Given the description of an element on the screen output the (x, y) to click on. 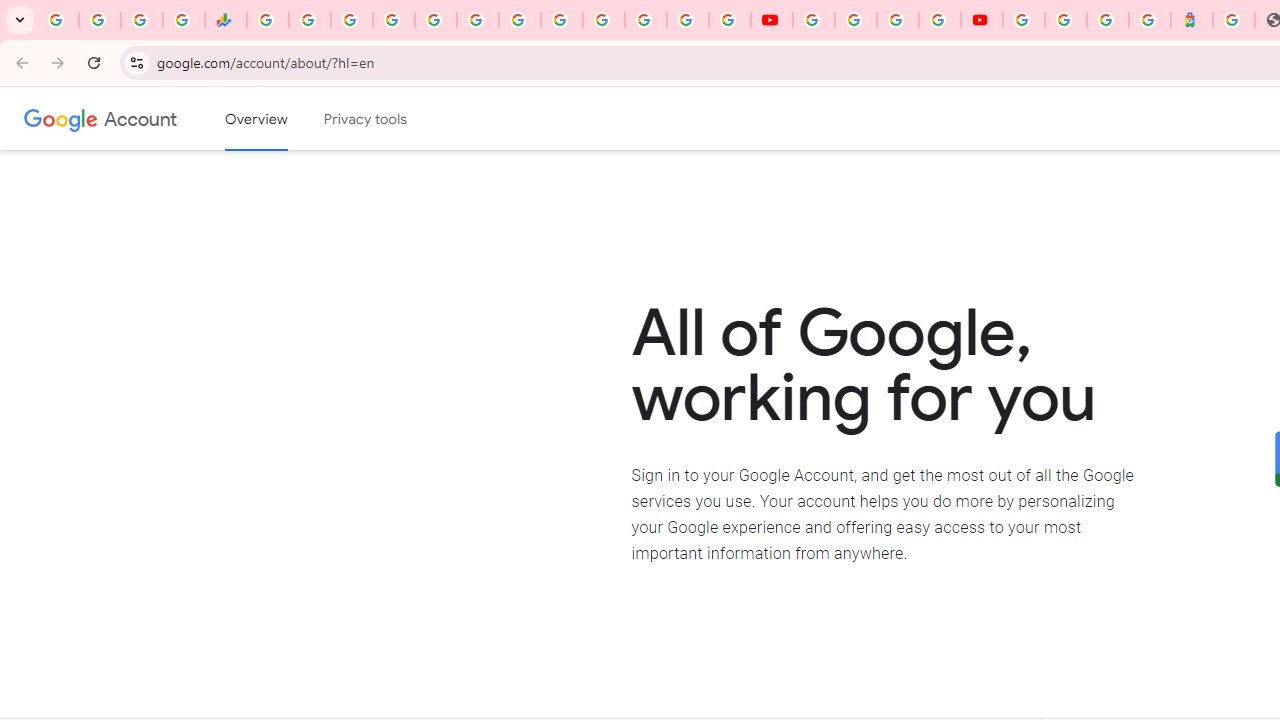
Atour Hotel - Google hotels (1192, 20)
Privacy Checkup (730, 20)
YouTube (813, 20)
YouTube (772, 20)
